Given the description of an element on the screen output the (x, y) to click on. 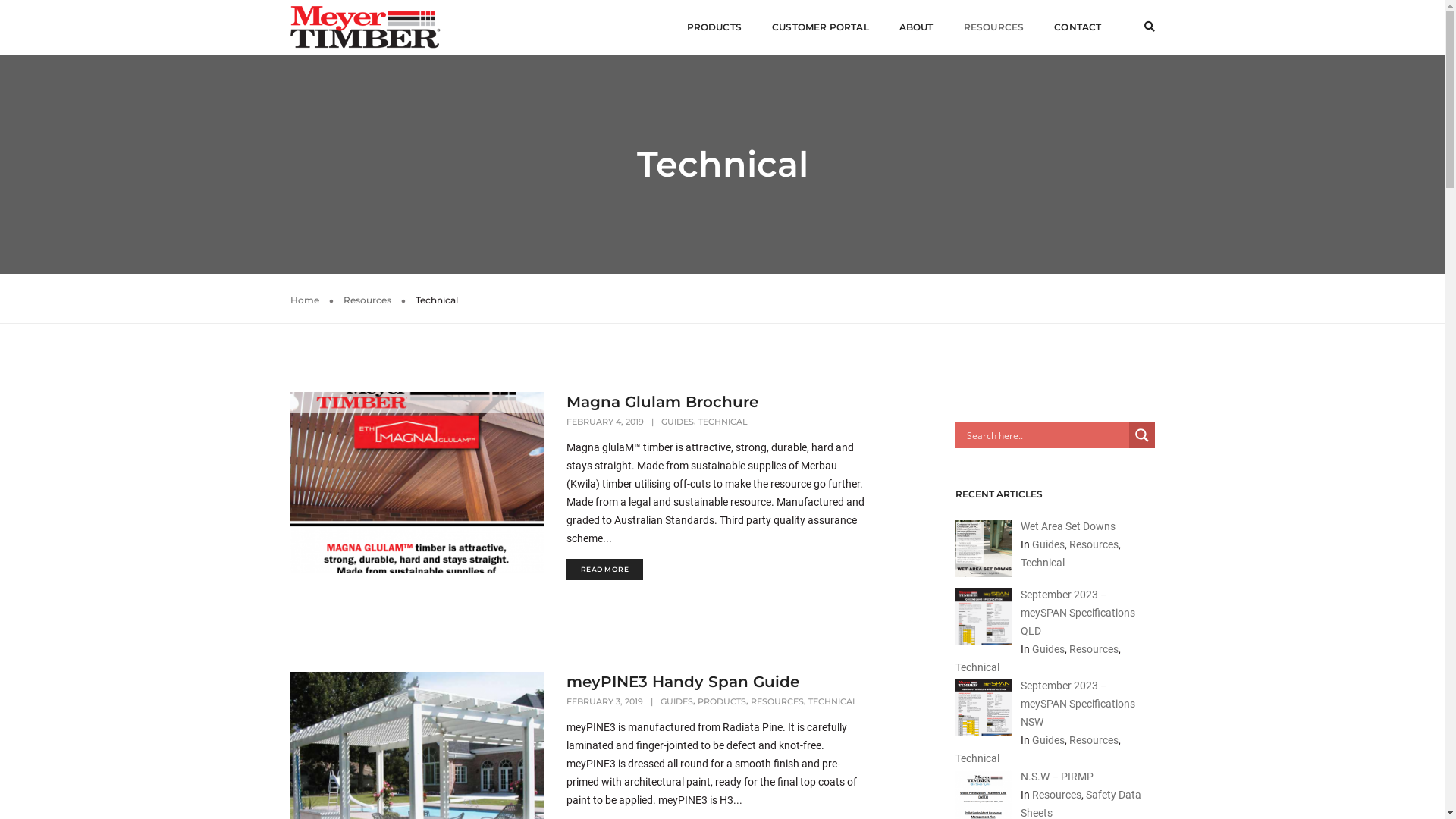
ABOUT Element type: text (916, 27)
PRODUCTS Element type: text (714, 27)
READ MORE Element type: text (604, 569)
TECHNICAL Element type: text (722, 421)
RESOURCES Element type: text (993, 27)
Resources Element type: text (1093, 740)
Resources Element type: text (1093, 649)
CUSTOMER PORTAL Element type: text (820, 27)
PRODUCTS Element type: text (721, 701)
Technical Element type: text (977, 667)
Guides Element type: text (1047, 544)
Meyer Timber Element type: hover (365, 26)
Wet Area Set Downs Element type: text (1067, 526)
Technical Element type: text (977, 758)
Resources Element type: text (366, 299)
Guides Element type: text (1047, 649)
GUIDES Element type: text (677, 421)
GUIDES Element type: text (676, 701)
Magna Glulam Brochure Element type: text (662, 401)
Guides Element type: text (1047, 740)
Resources Element type: text (1093, 544)
CONTACT Element type: text (1077, 27)
RESOURCES Element type: text (776, 701)
TECHNICAL Element type: text (832, 701)
Resources Element type: text (1055, 794)
meyPINE3 Handy Span Guide Element type: text (682, 681)
Home Element type: text (303, 299)
Technical Element type: text (1042, 562)
